Given the description of an element on the screen output the (x, y) to click on. 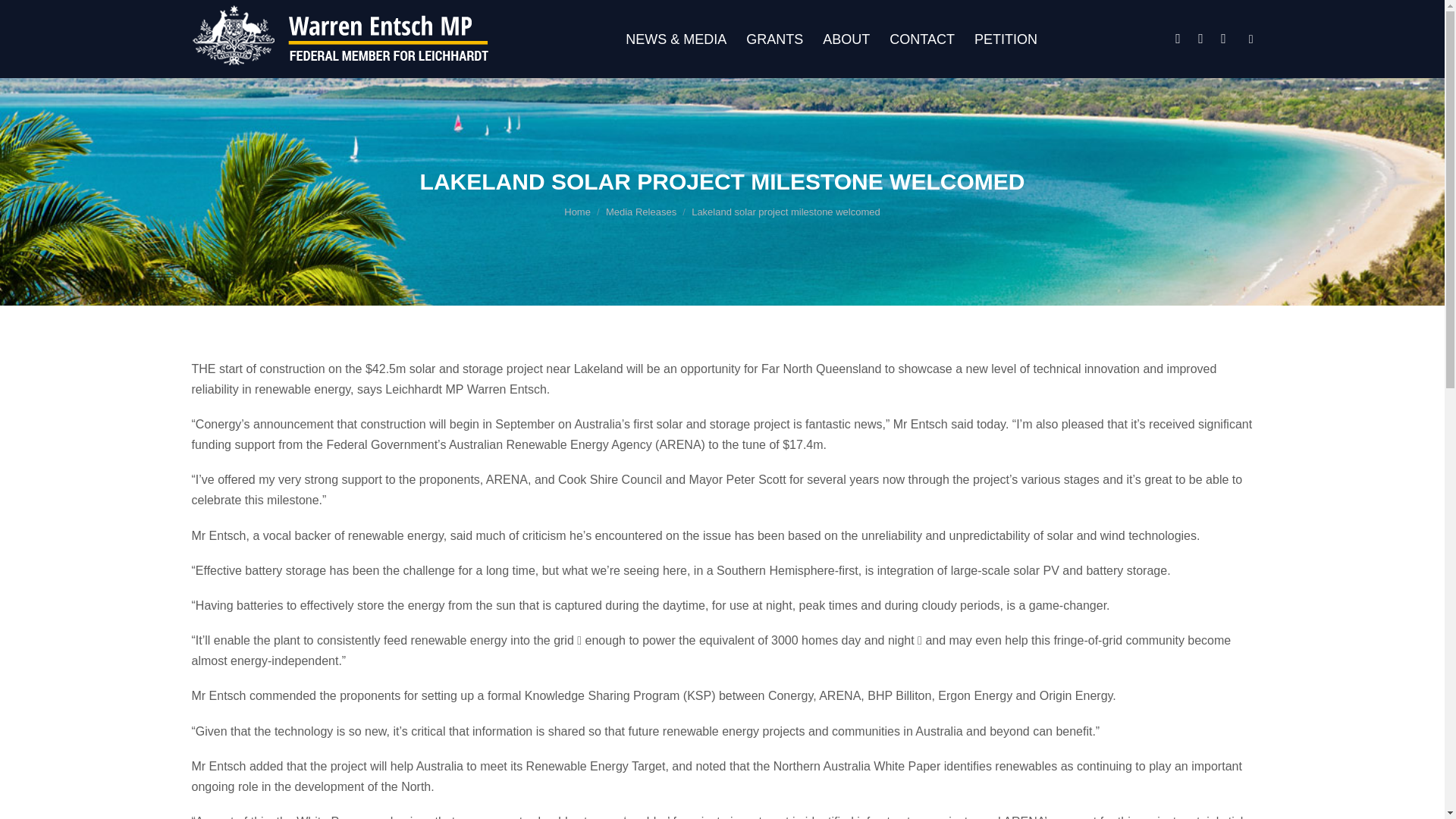
PETITION (1005, 38)
YouTube page opens in new window (1223, 38)
YouTube page opens in new window (1223, 38)
Go! (27, 18)
Instagram page opens in new window (1201, 38)
Home (577, 211)
GRANTS (774, 38)
CONTACT (922, 38)
ABOUT (845, 38)
Facebook page opens in new window (1178, 38)
Media Releases (641, 211)
Instagram page opens in new window (1201, 38)
Facebook page opens in new window (1178, 38)
